Given the description of an element on the screen output the (x, y) to click on. 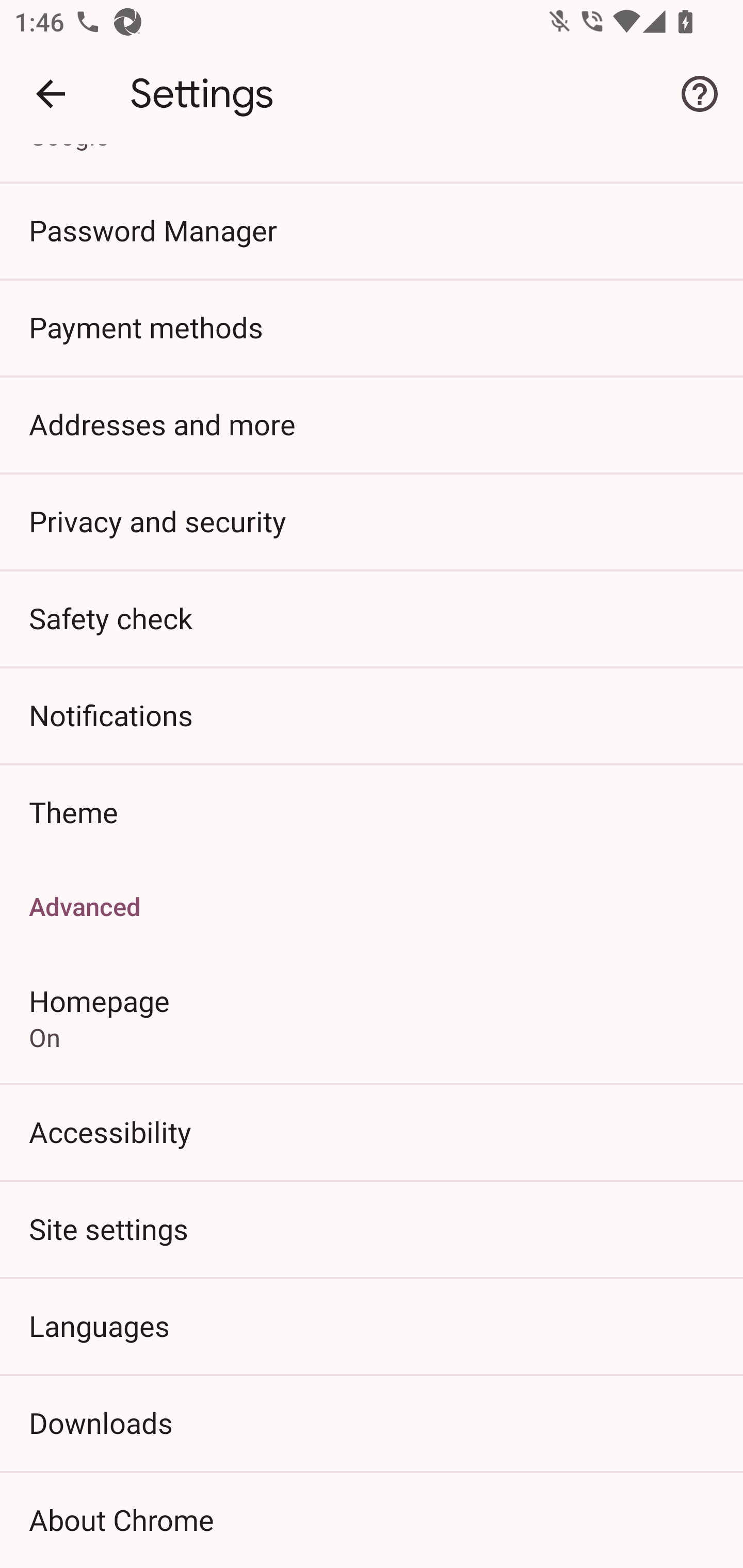
Navigate up (50, 93)
Help & feedback (699, 93)
Password Manager (371, 230)
Payment methods (371, 326)
Addresses and more (371, 422)
Privacy and security (371, 520)
Safety check (371, 617)
Notifications (371, 714)
Theme (371, 811)
Homepage On (371, 1017)
Accessibility (371, 1131)
Site settings (371, 1228)
Languages (371, 1324)
Downloads (371, 1421)
About Chrome (371, 1519)
